Given the description of an element on the screen output the (x, y) to click on. 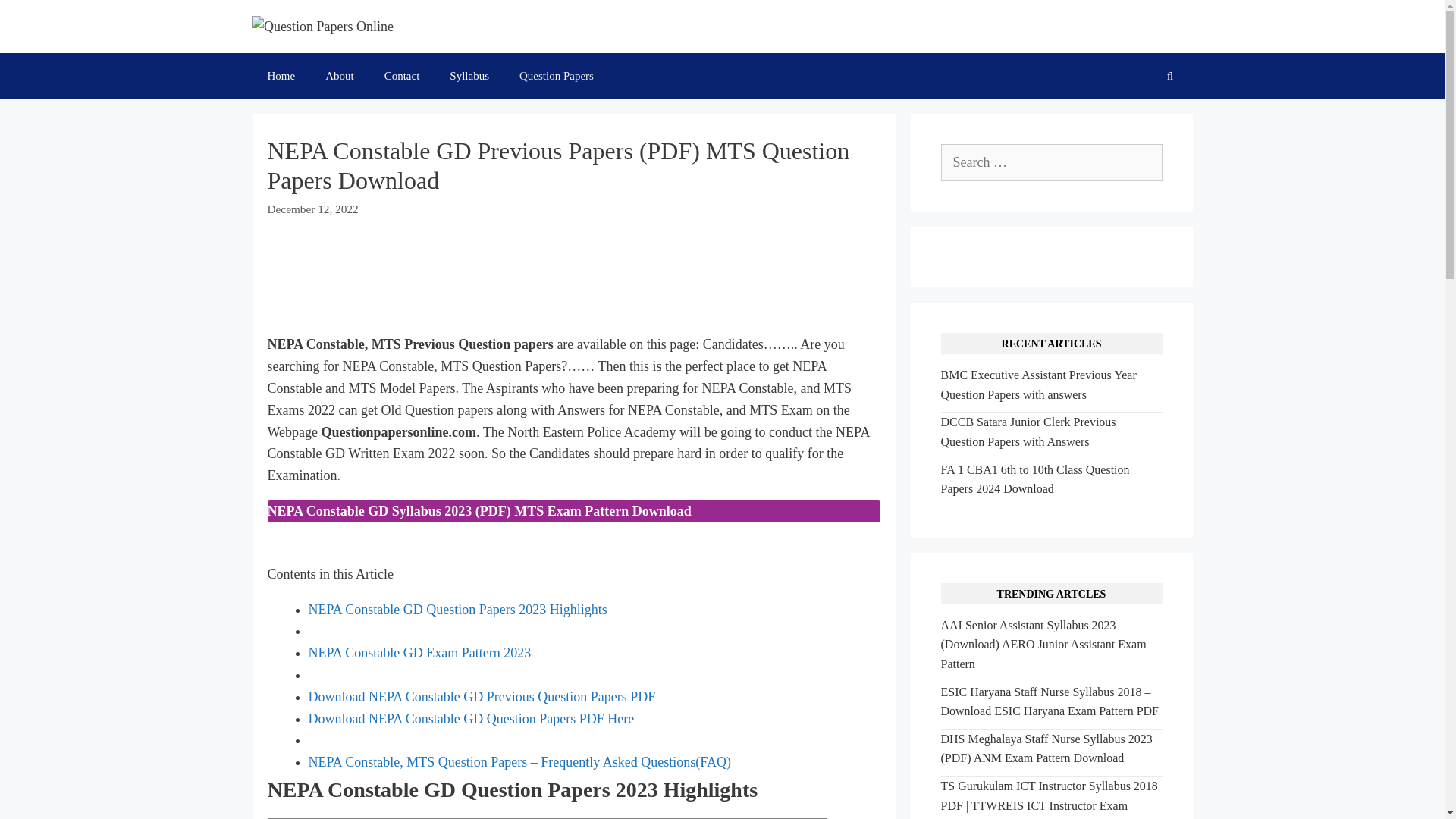
Download NEPA Constable GD Previous Question Papers PDF (481, 696)
Syllabus (468, 75)
Question Papers (555, 75)
Download NEPA Constable GD Question Papers PDF Here (470, 718)
Home (280, 75)
NEPA Constable GD Exam Pattern 2023 (419, 652)
About (339, 75)
Contact (402, 75)
Search for: (1050, 162)
NEPA Constable GD Question Papers 2023 Highlights (457, 609)
